Given the description of an element on the screen output the (x, y) to click on. 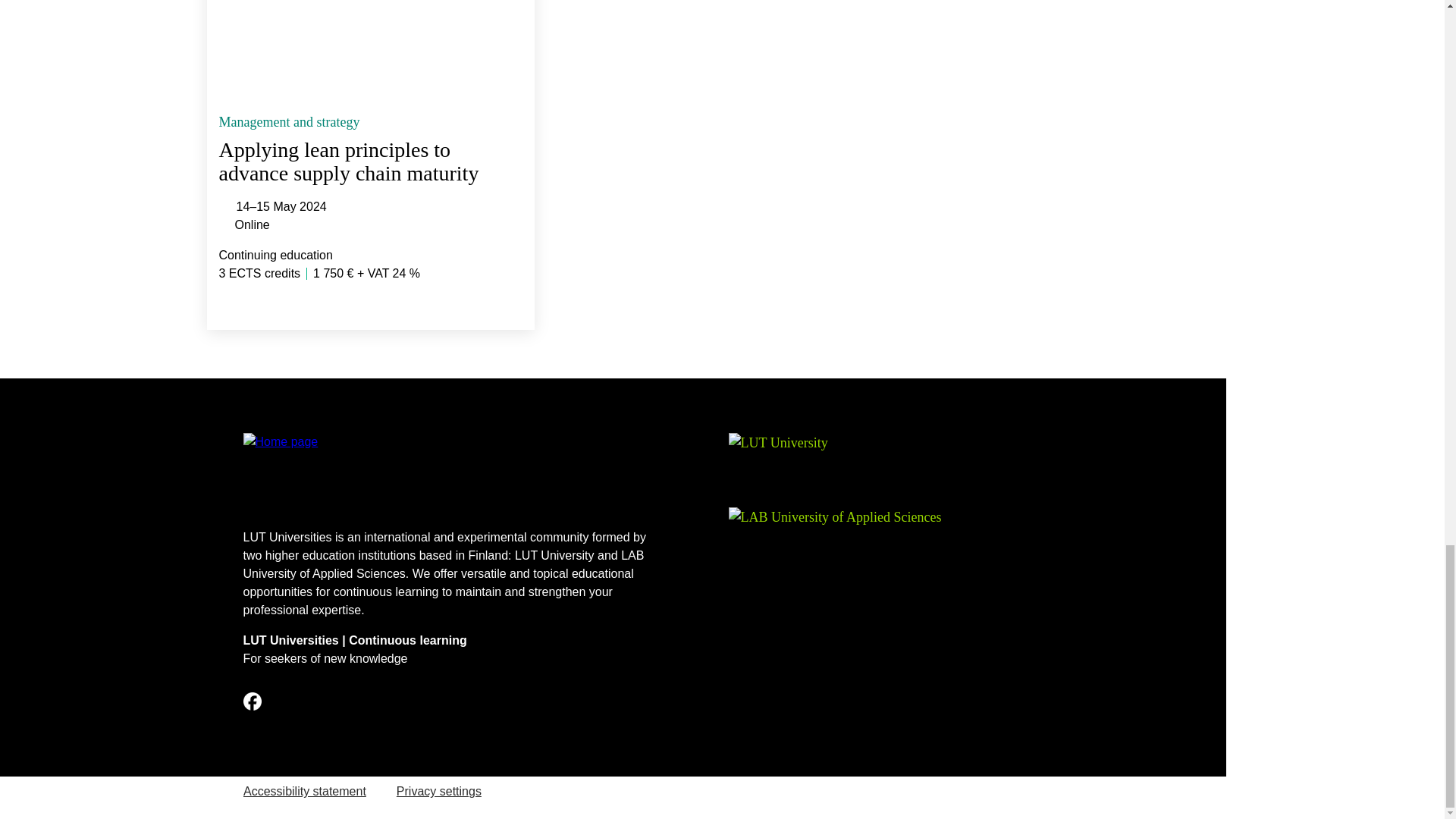
Check us out on Facebook. (251, 701)
Accessibility statement (304, 790)
Privacy settings (438, 790)
Home page (449, 474)
